Given the description of an element on the screen output the (x, y) to click on. 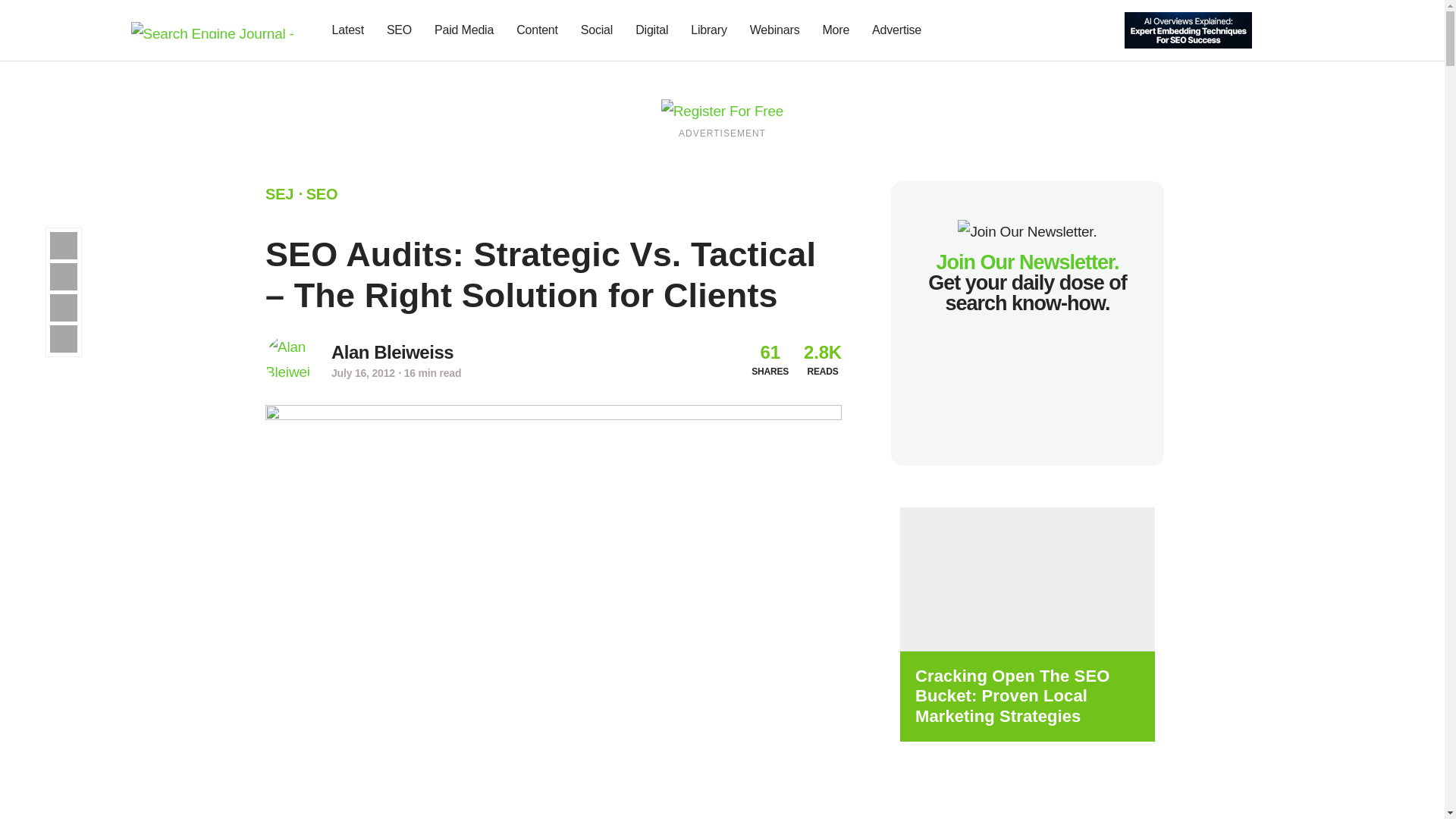
Paid Media (464, 30)
Subscribe to our Newsletter (1277, 30)
Register For Free (1187, 28)
Latest (347, 30)
Register For Free (722, 109)
Go to Author Page (289, 359)
Go to Author Page (391, 352)
